Given the description of an element on the screen output the (x, y) to click on. 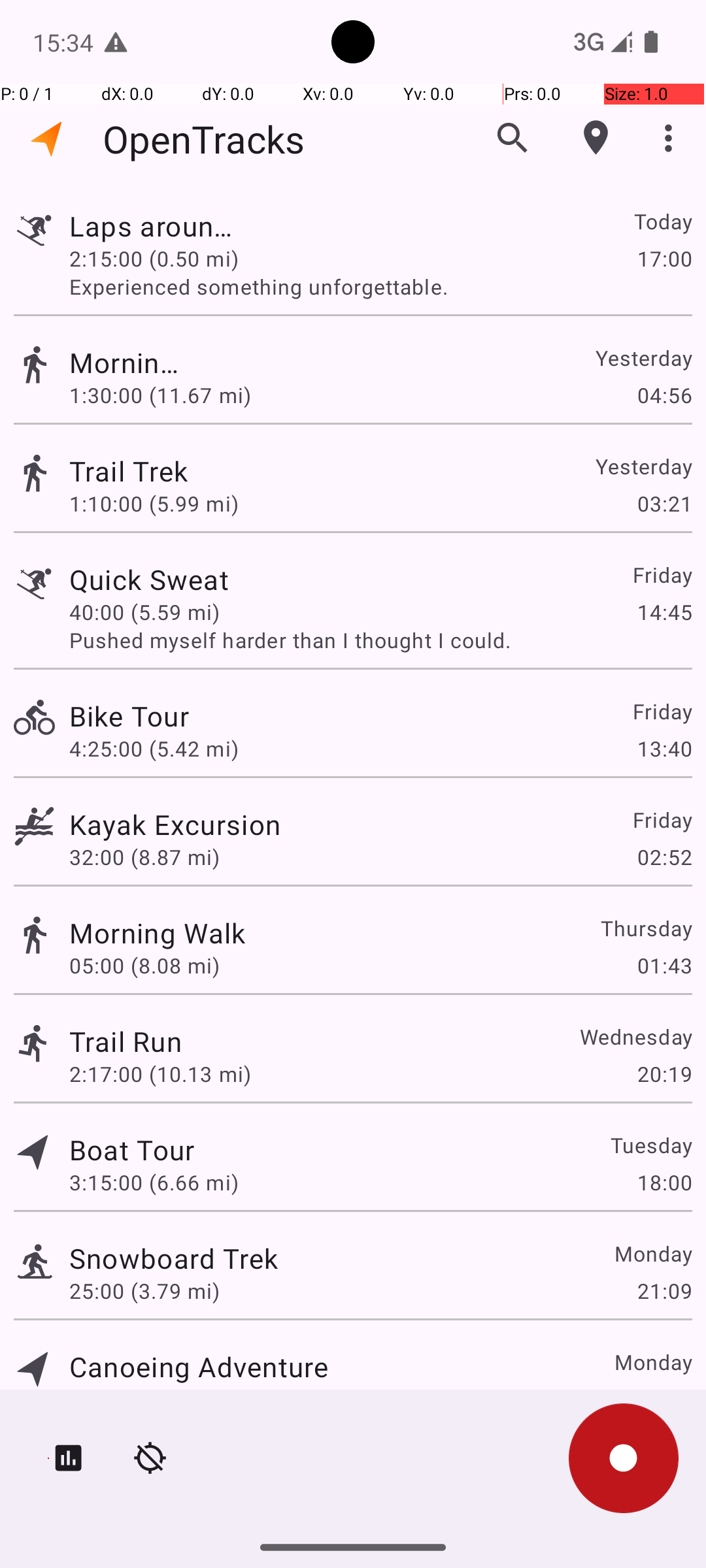
OpenTracks Element type: android.widget.TextView (203, 138)
Markers Element type: android.widget.Button (595, 137)
Record Element type: android.widget.ImageButton (623, 1458)
Track Element type: android.widget.ImageView (33, 227)
Laps around the lake Element type: android.widget.TextView (157, 225)
Today Element type: android.widget.TextView (662, 221)
2:15:00 (0.50 mi) Element type: android.widget.TextView (153, 258)
17:00 Element type: android.widget.TextView (664, 258)
Experienced something unforgettable. Element type: android.widget.TextView (380, 286)
Morning Walk Element type: android.widget.TextView (125, 361)
Yesterday Element type: android.widget.TextView (643, 357)
1:30:00 (11.67 mi) Element type: android.widget.TextView (159, 394)
04:56 Element type: android.widget.TextView (664, 394)
Trail Trek Element type: android.widget.TextView (131, 470)
1:10:00 (5.99 mi) Element type: android.widget.TextView (153, 503)
03:21 Element type: android.widget.TextView (664, 503)
Quick Sweat Element type: android.widget.TextView (173, 578)
Friday Element type: android.widget.TextView (661, 574)
40:00 (5.59 mi) Element type: android.widget.TextView (144, 611)
14:45 Element type: android.widget.TextView (664, 611)
Pushed myself harder than I thought I could. Element type: android.widget.TextView (380, 639)
Bike Tour Element type: android.widget.TextView (198, 715)
4:25:00 (5.42 mi) Element type: android.widget.TextView (153, 748)
13:40 Element type: android.widget.TextView (664, 748)
Kayak Excursion Element type: android.widget.TextView (174, 823)
32:00 (8.87 mi) Element type: android.widget.TextView (144, 856)
02:52 Element type: android.widget.TextView (664, 856)
Thursday Element type: android.widget.TextView (645, 928)
05:00 (8.08 mi) Element type: android.widget.TextView (144, 965)
01:43 Element type: android.widget.TextView (664, 965)
Trail Run Element type: android.widget.TextView (125, 1040)
Wednesday Element type: android.widget.TextView (635, 1036)
2:17:00 (10.13 mi) Element type: android.widget.TextView (159, 1073)
20:19 Element type: android.widget.TextView (664, 1073)
Boat Tour Element type: android.widget.TextView (131, 1149)
Tuesday Element type: android.widget.TextView (650, 1144)
3:15:00 (6.66 mi) Element type: android.widget.TextView (153, 1182)
18:00 Element type: android.widget.TextView (664, 1182)
Snowboard Trek Element type: android.widget.TextView (173, 1257)
Monday Element type: android.widget.TextView (652, 1253)
25:00 (3.79 mi) Element type: android.widget.TextView (144, 1290)
21:09 Element type: android.widget.TextView (664, 1290)
Canoeing Adventure Element type: android.widget.TextView (198, 1366)
46:00 (4.83 mi) Element type: android.widget.TextView (144, 1399)
09:38 Element type: android.widget.TextView (664, 1399)
